Given the description of an element on the screen output the (x, y) to click on. 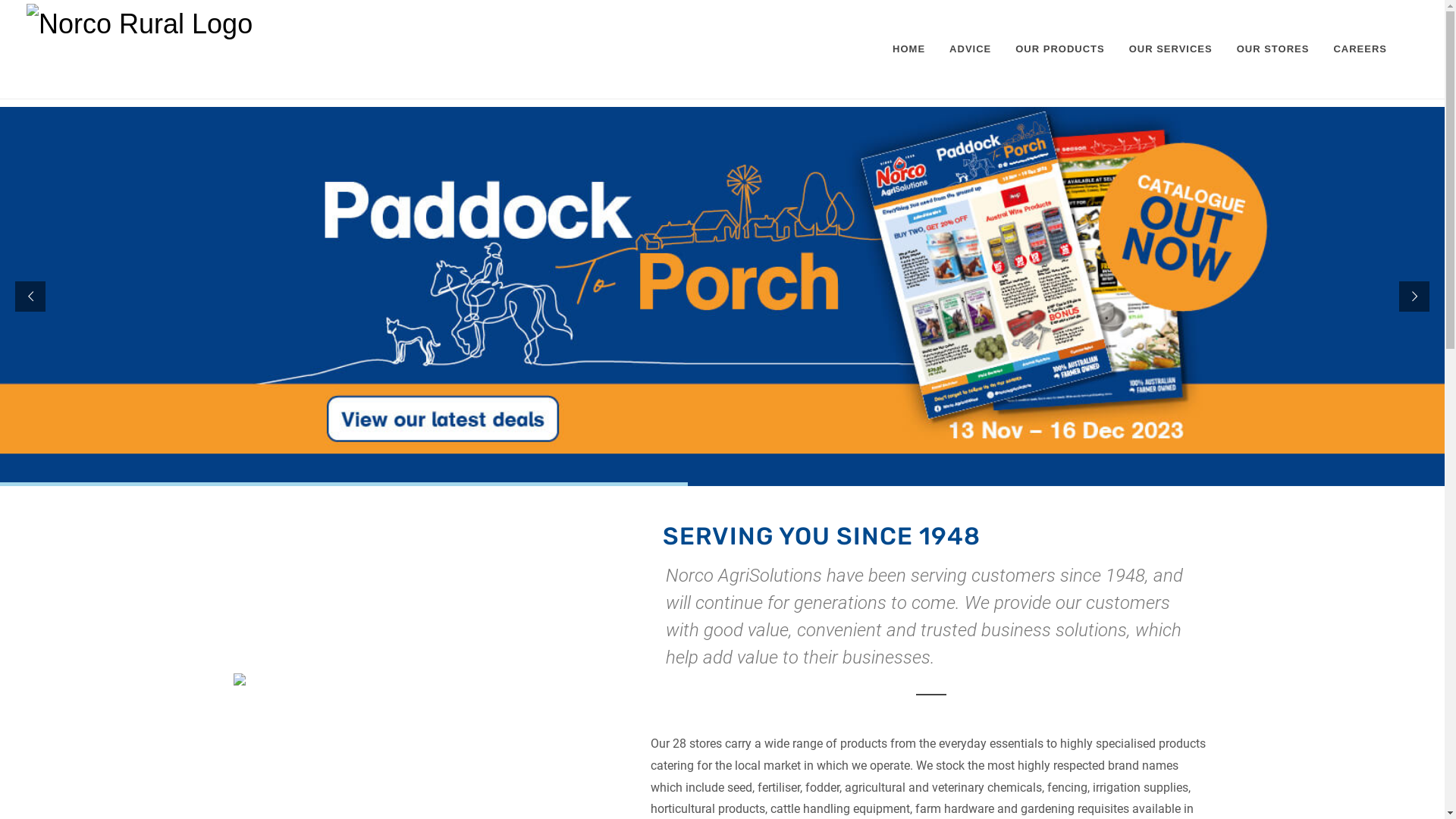
CAREERS Element type: text (1359, 49)
OUR PRODUCTS Element type: text (1059, 49)
HOME Element type: text (908, 49)
ADVICE Element type: text (970, 49)
OUR STORES Element type: text (1273, 49)
OUR SERVICES Element type: text (1170, 49)
0 Element type: text (722, 296)
